Given the description of an element on the screen output the (x, y) to click on. 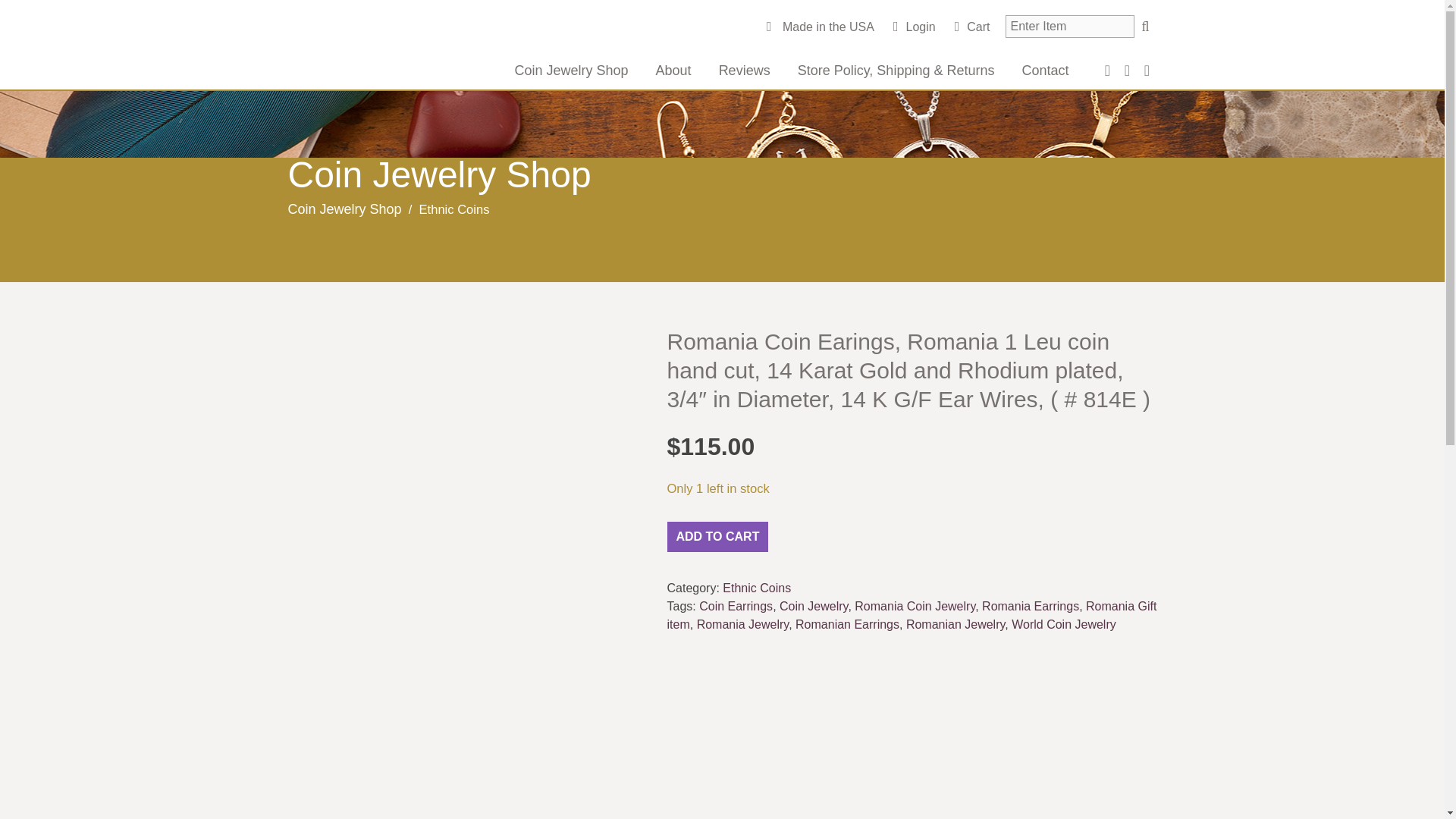
Search for: (1070, 26)
Reviews (744, 70)
Search (1145, 26)
Coin Jewelry Shop (344, 209)
Coin Earrings (735, 605)
Login (914, 26)
Coin Jewelry Shop (571, 70)
Romanian Earrings (846, 624)
The Difference (398, 49)
Contact (1044, 70)
